Given the description of an element on the screen output the (x, y) to click on. 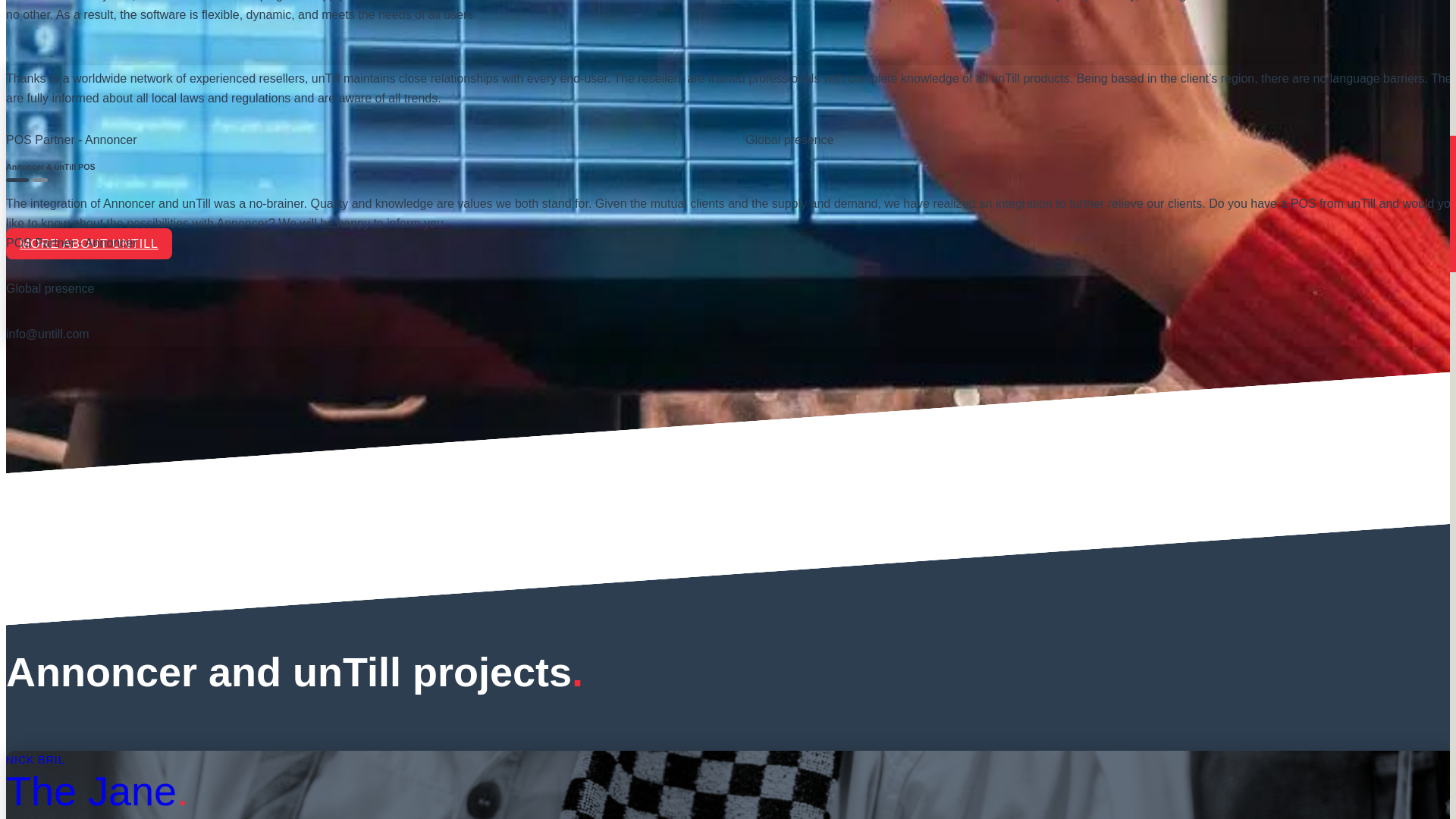
MORE ABOUT UNTILL (88, 243)
